Given the description of an element on the screen output the (x, y) to click on. 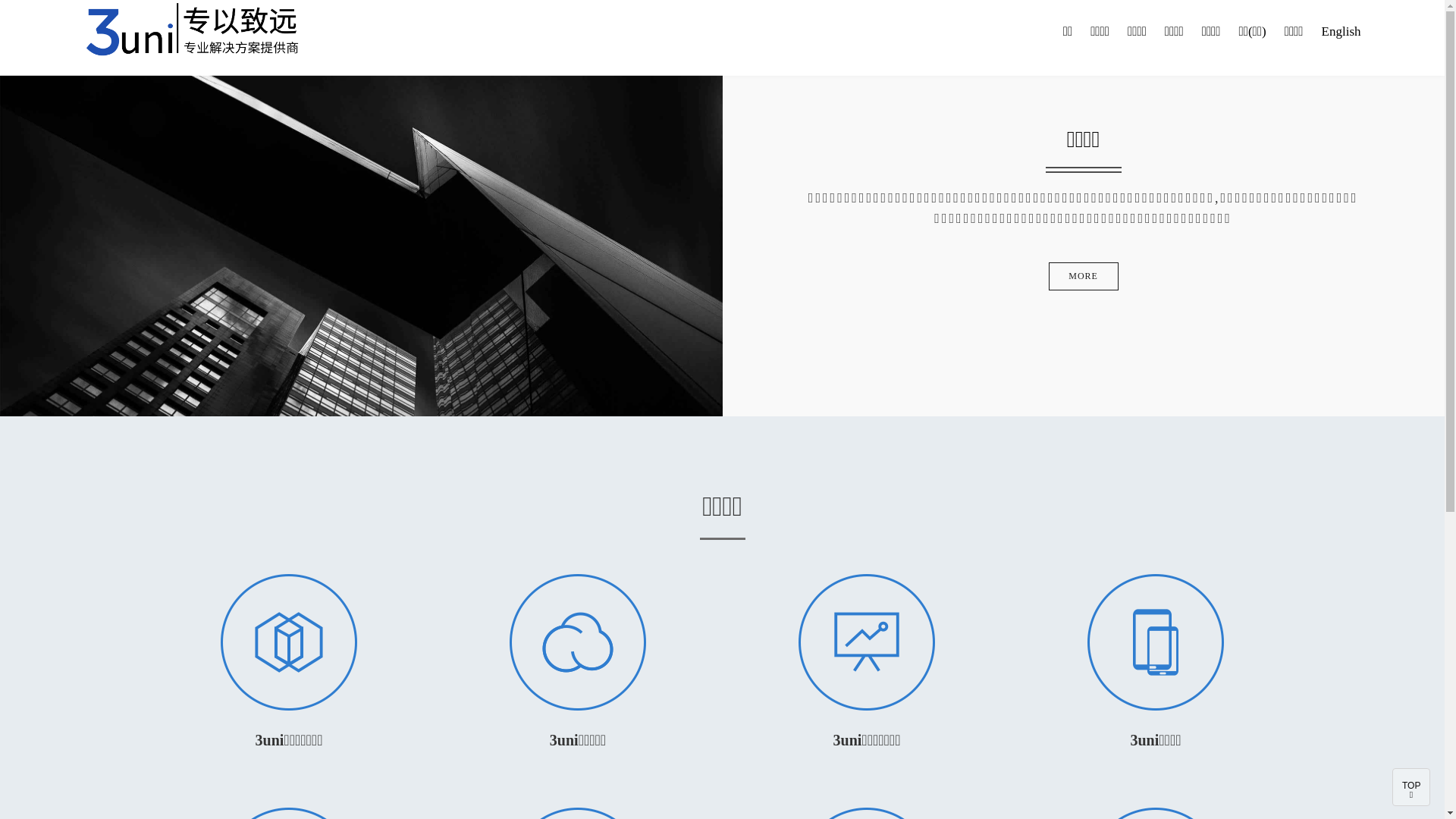
MORE Element type: text (1083, 275)
English Element type: text (1341, 31)
